Given the description of an element on the screen output the (x, y) to click on. 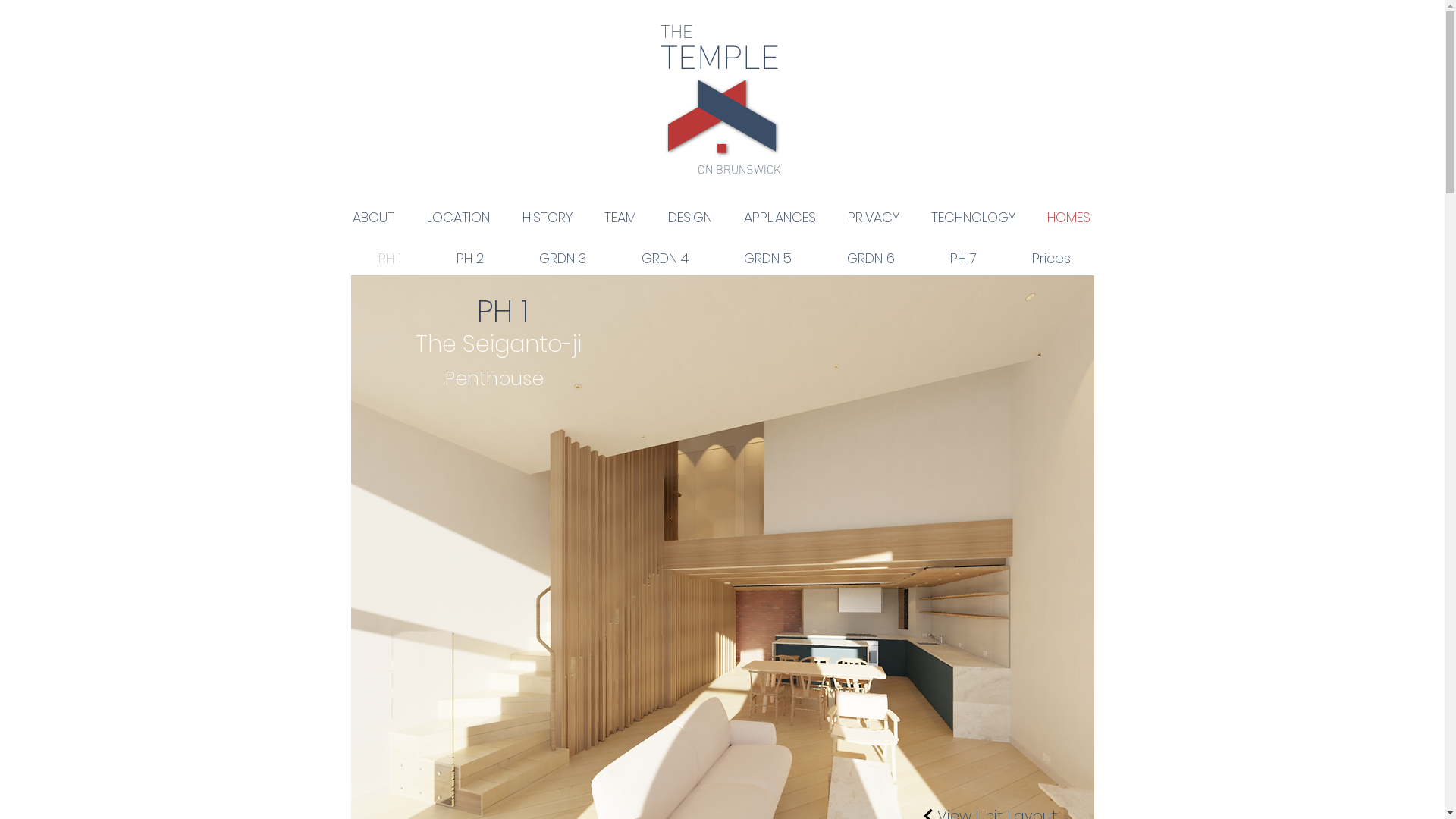
GRDN 4 Element type: text (665, 258)
HISTORY Element type: text (547, 217)
PH 1 Element type: text (389, 258)
Prices Element type: text (1051, 258)
GRDN 6 Element type: text (870, 258)
DESIGN Element type: text (690, 217)
THE
TEMPLE



          Element type: text (718, 88)
PH 2 Element type: text (470, 258)
LOCATION Element type: text (458, 217)
ABOUT Element type: text (373, 217)
PH 7 Element type: text (963, 258)
GRDN 3 Element type: text (562, 258)
HOMES Element type: text (1068, 217)
APPLIANCES Element type: text (779, 217)
GRDN 5 Element type: text (767, 258)
TECHNOLOGY Element type: text (972, 217)
TEAM Element type: text (620, 217)
PRIVACY Element type: text (872, 217)
